Given the description of an element on the screen output the (x, y) to click on. 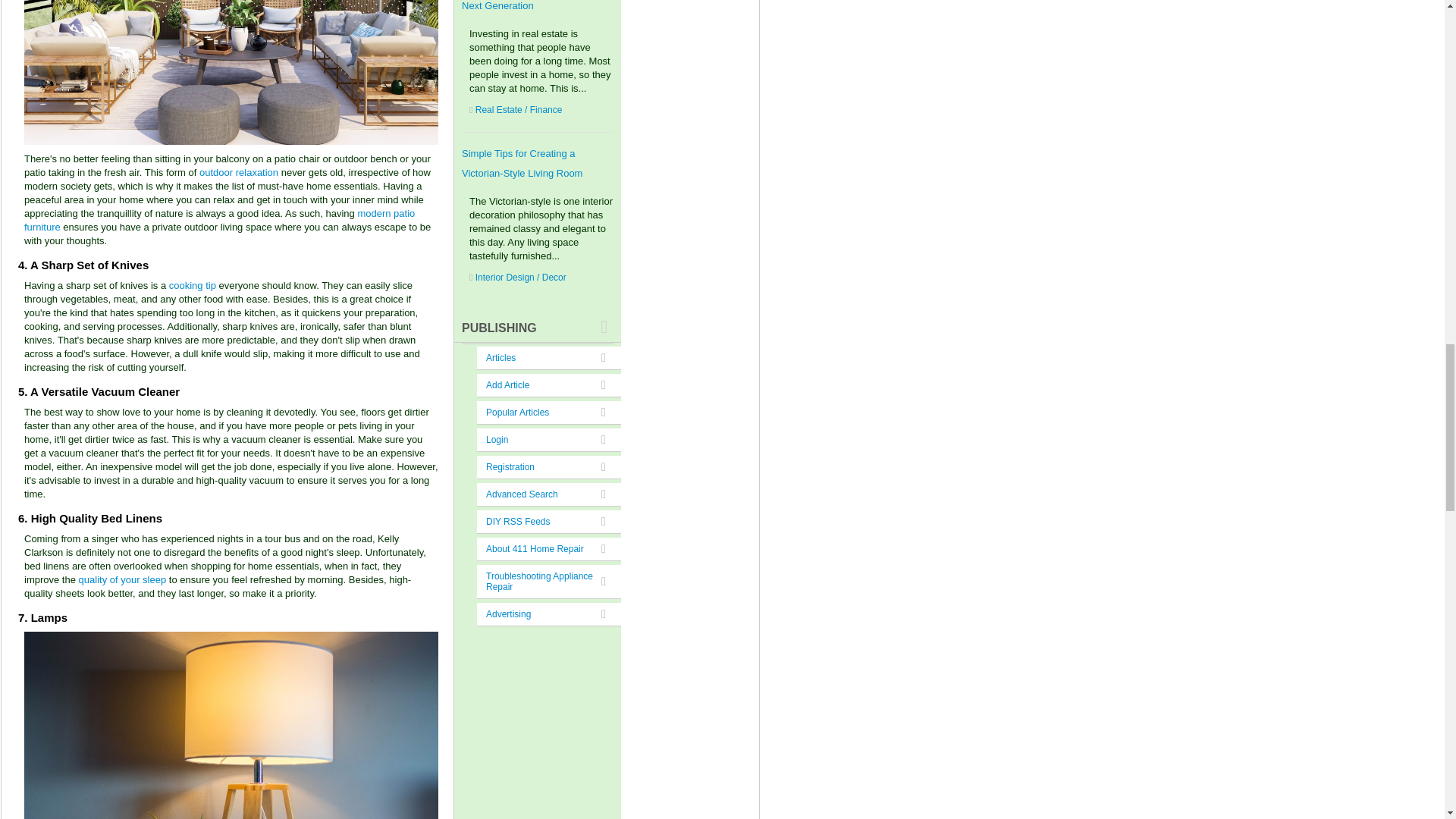
outdoor relaxation (238, 172)
quality of your sleep (122, 579)
modern patio furniture (219, 220)
cooking tip (191, 285)
